Given the description of an element on the screen output the (x, y) to click on. 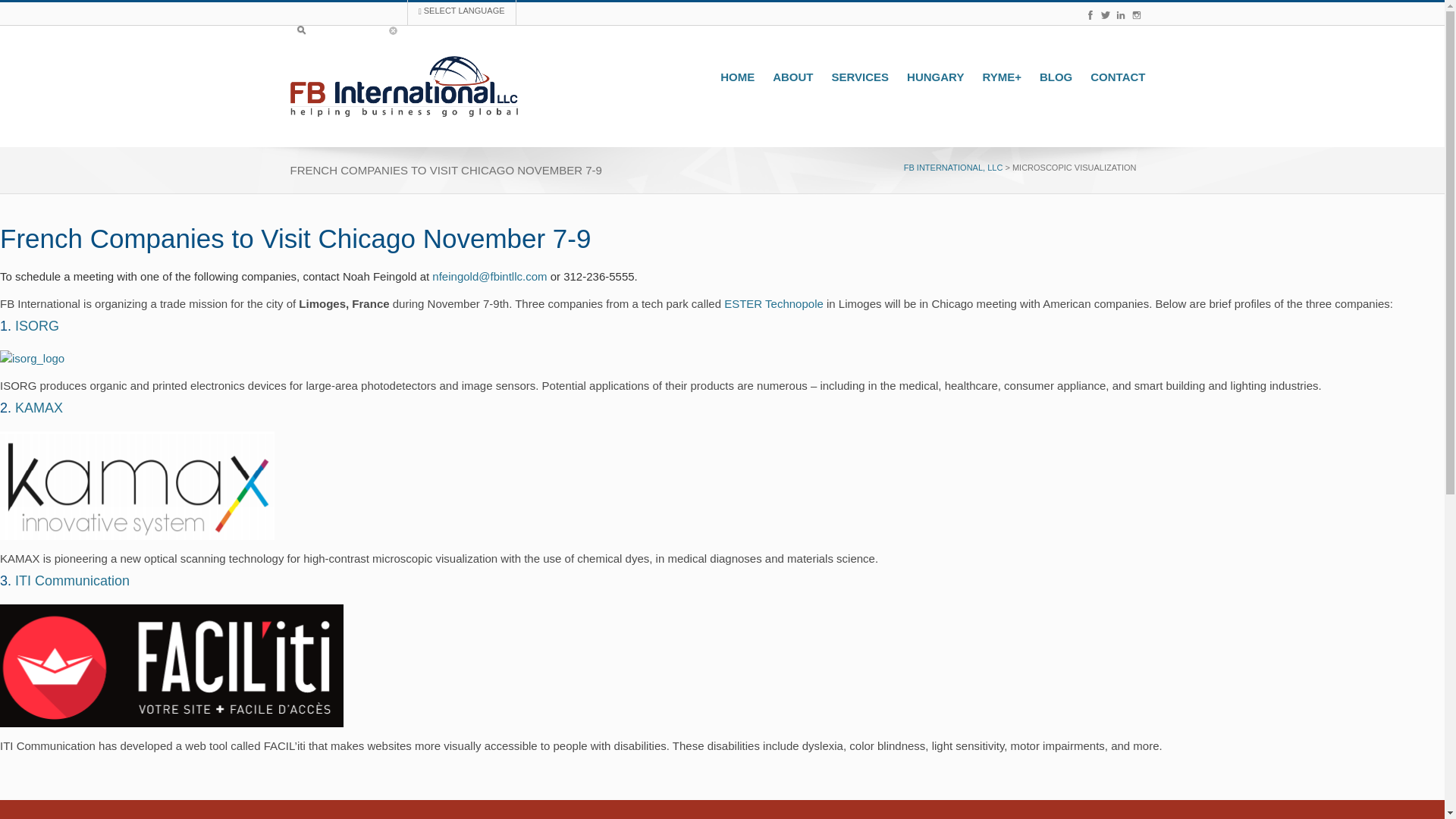
ISORG (36, 325)
CONTACT (1117, 76)
HOME (736, 76)
SELECT LANGUAGE (461, 12)
HUNGARY (935, 76)
clear search (392, 30)
Go to FB International, LLC. (953, 166)
KAMAX (38, 407)
undefined (38, 407)
BLOG (1055, 76)
SERVICES (860, 76)
ESTER Technopole (773, 303)
undefined (71, 580)
FB INTERNATIONAL, LLC (953, 166)
undefined (36, 325)
